Given the description of an element on the screen output the (x, y) to click on. 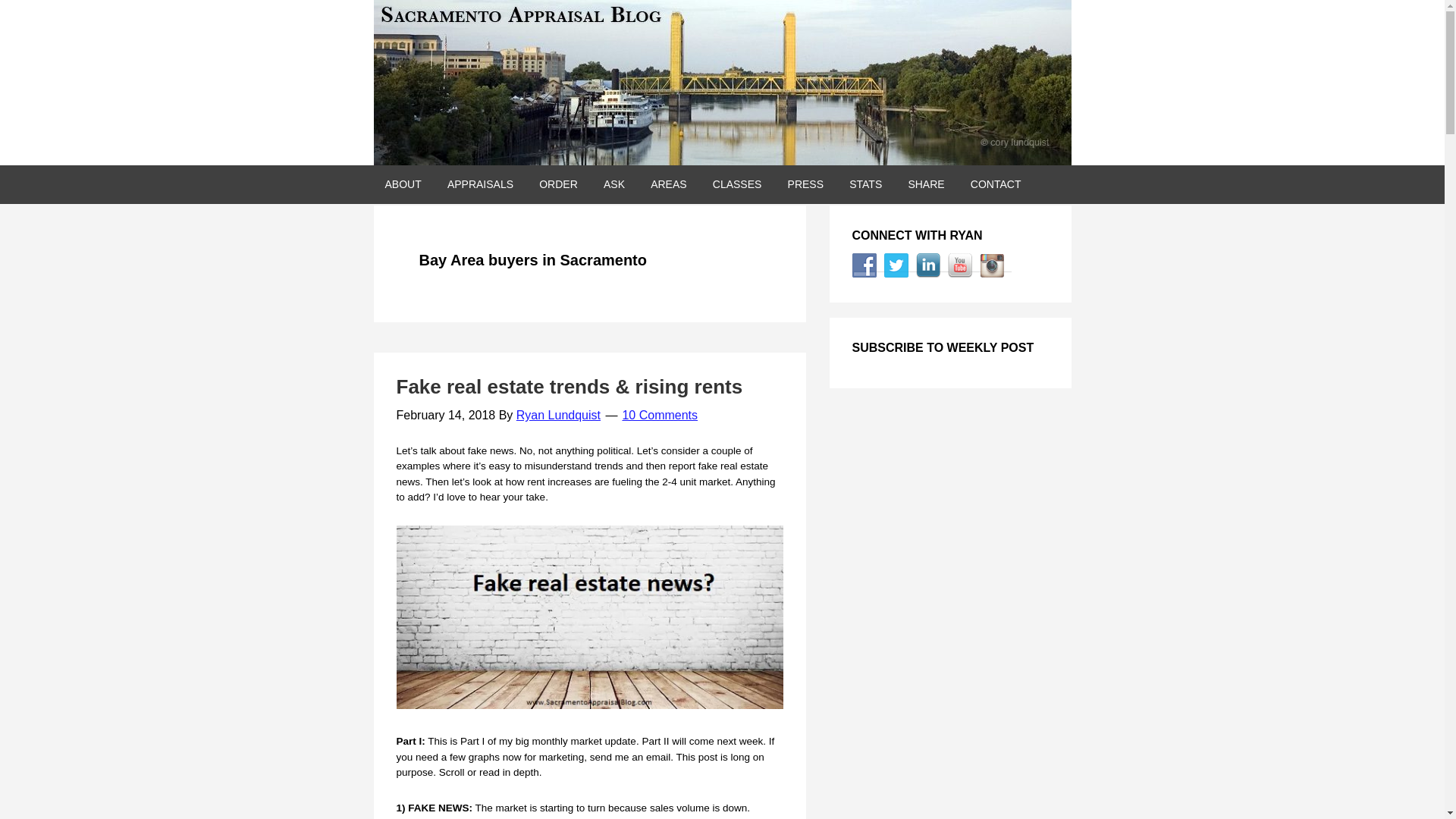
10 Comments (659, 414)
CLASSES (737, 184)
PRESS (805, 184)
 LinkedIn (927, 265)
AREAS (668, 184)
Ryan Lundquist (557, 414)
 YouTube (959, 265)
Sacramento Appraisal Blog (721, 82)
APPRAISALS (479, 184)
